Given the description of an element on the screen output the (x, y) to click on. 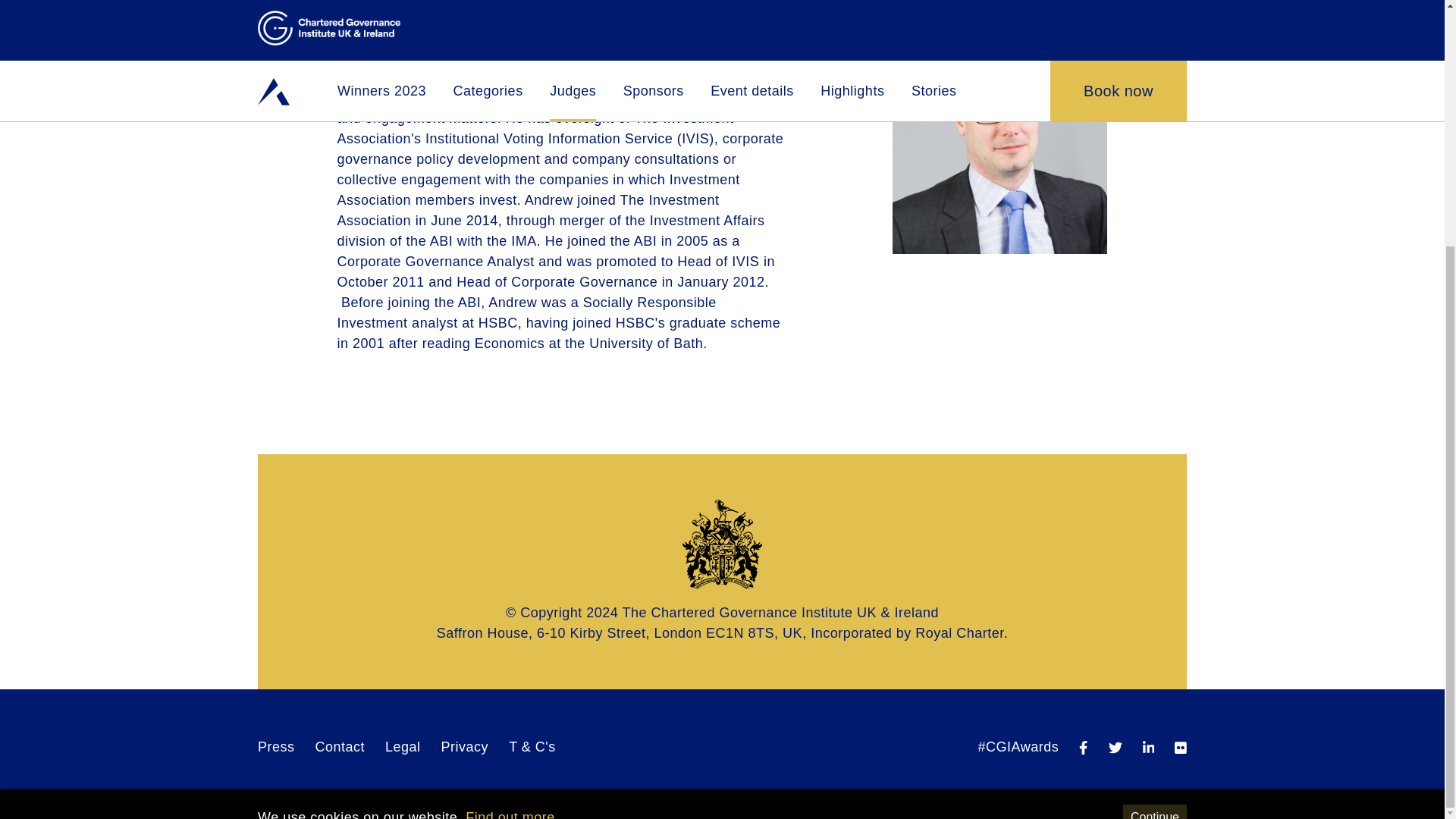
Find out more (509, 473)
Contact (340, 746)
Privacy (465, 746)
Legal (402, 746)
Twitter (1115, 747)
Twitter (1115, 746)
Press (276, 746)
Continue (1154, 473)
